Given the description of an element on the screen output the (x, y) to click on. 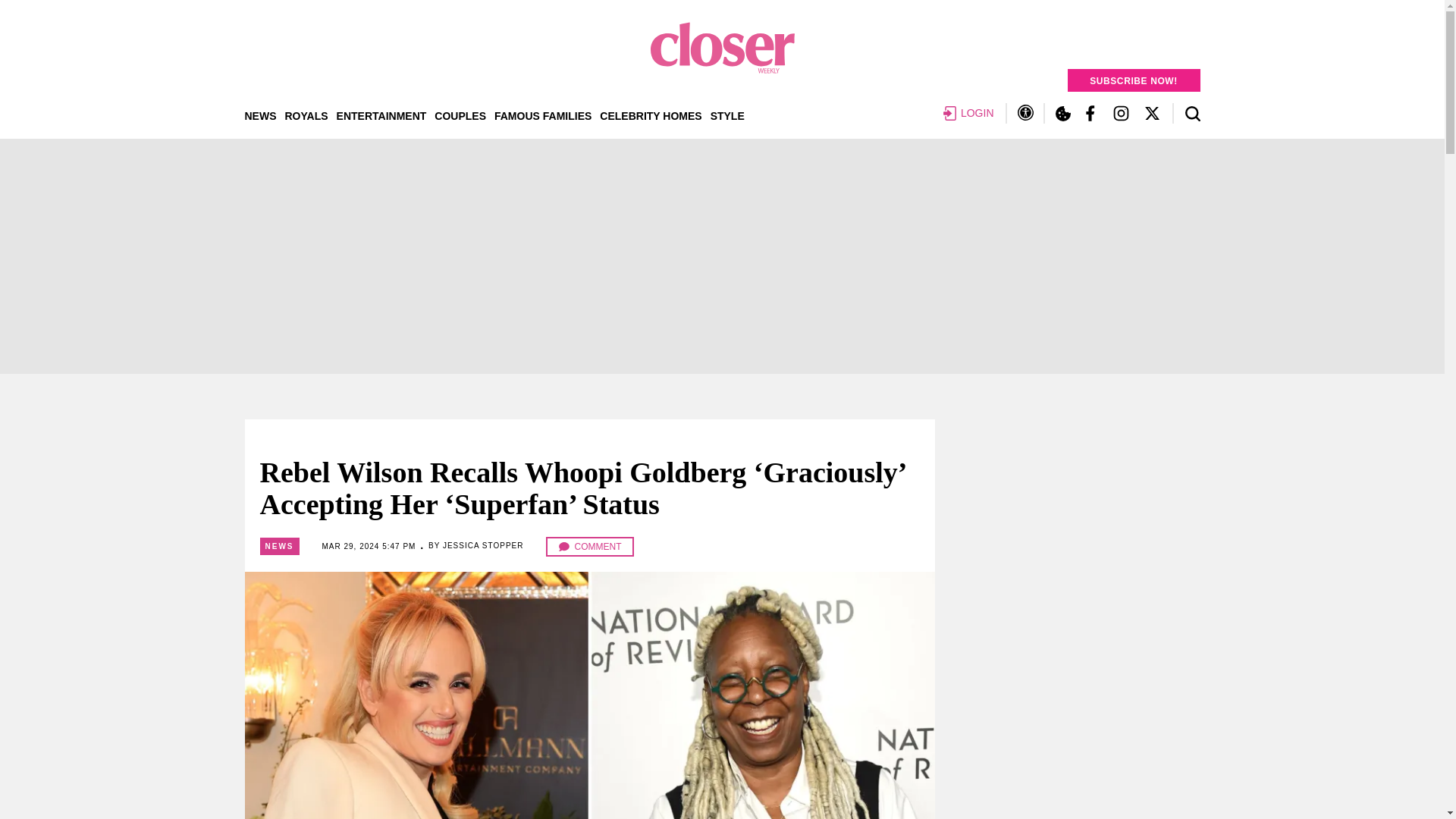
Posts by Jessica Stopper (483, 545)
